Given the description of an element on the screen output the (x, y) to click on. 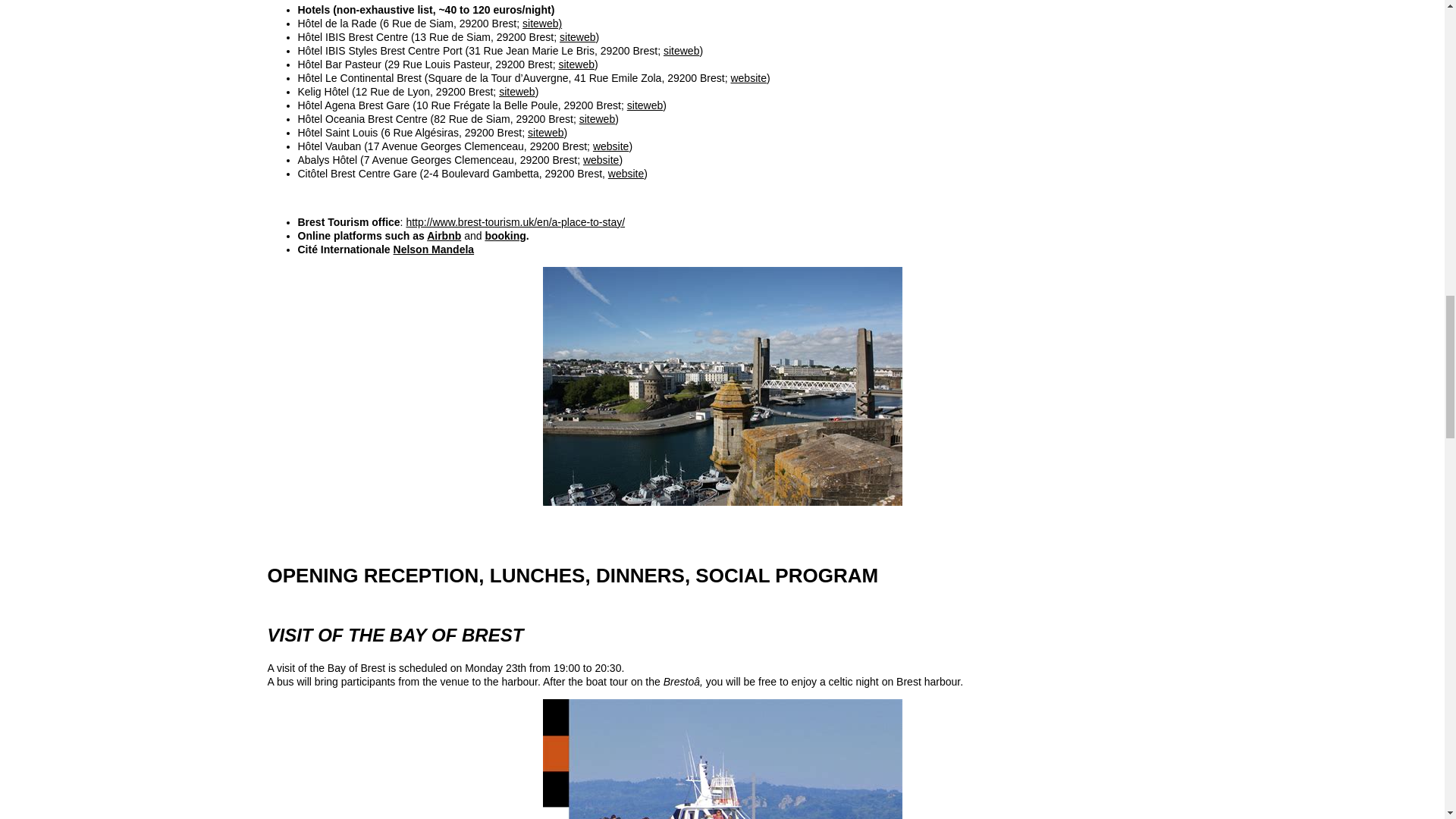
siteweb (575, 64)
booking (504, 235)
website (747, 78)
siteweb (596, 119)
website (610, 146)
siteweb (545, 132)
website (625, 173)
siteweb (577, 37)
siteweb (680, 50)
Nelson Mandela (433, 249)
siteweb (644, 105)
Airbnb (443, 235)
siteweb (516, 91)
website (600, 159)
